Given the description of an element on the screen output the (x, y) to click on. 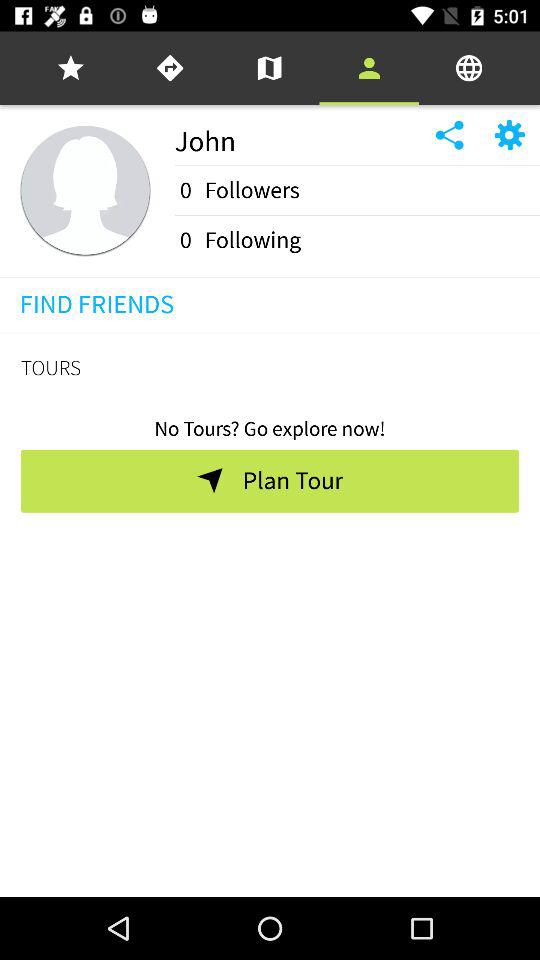
tap the item to the left of the plan tour icon (209, 480)
